Given the description of an element on the screen output the (x, y) to click on. 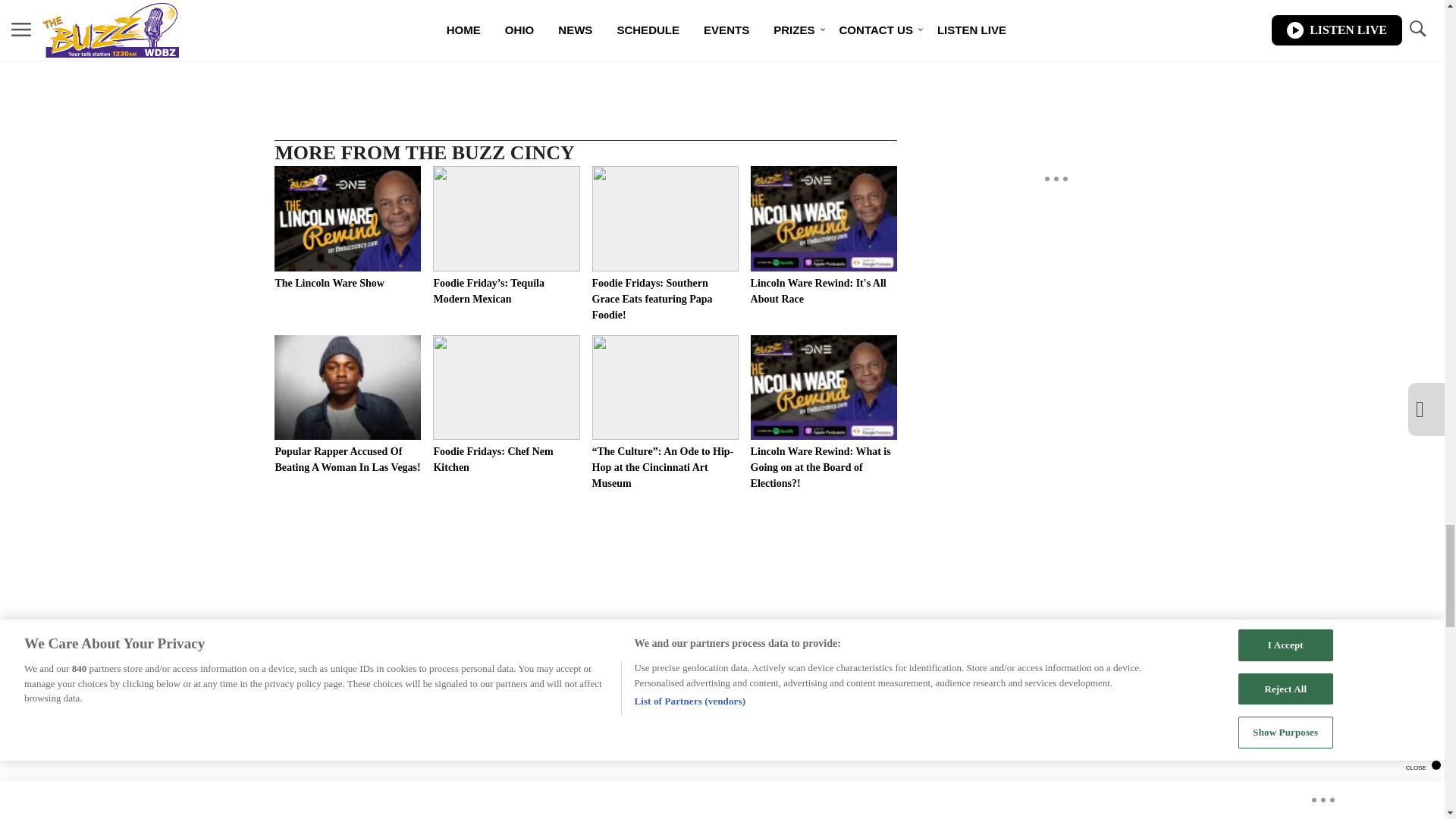
Vuukle Comments Widget (585, 798)
Vuukle Sharebar Widget (585, 40)
